Given the description of an element on the screen output the (x, y) to click on. 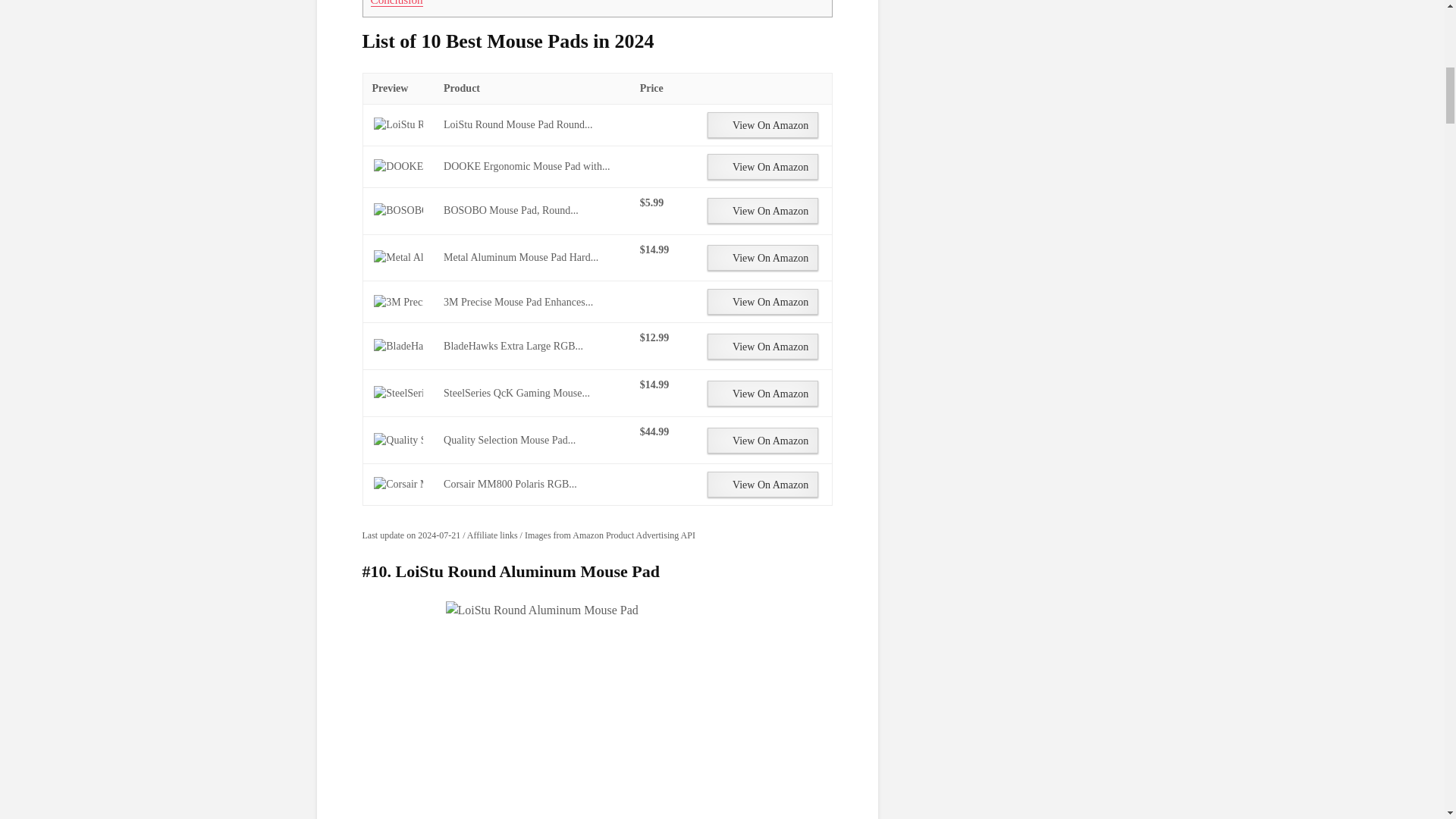
Metal Aluminum Mouse Pad Hard... (398, 257)
BOSOBO Mouse Pad, Round... (398, 210)
Amazon Prime (660, 266)
LoiStu Round Mouse Pad Round... (398, 124)
Metal Aluminum Mouse Pad Hard... (521, 256)
View On Amazon (762, 210)
Amazon Prime (660, 220)
BOSOBO Mouse Pad, Round... (511, 210)
DOOKE Ergonomic Mouse Pad with... (398, 166)
DOOKE Ergonomic Mouse Pad with... (527, 165)
View On Amazon (762, 166)
View On Amazon (762, 125)
LoiStu Round Mouse Pad Round... (518, 124)
